Given the description of an element on the screen output the (x, y) to click on. 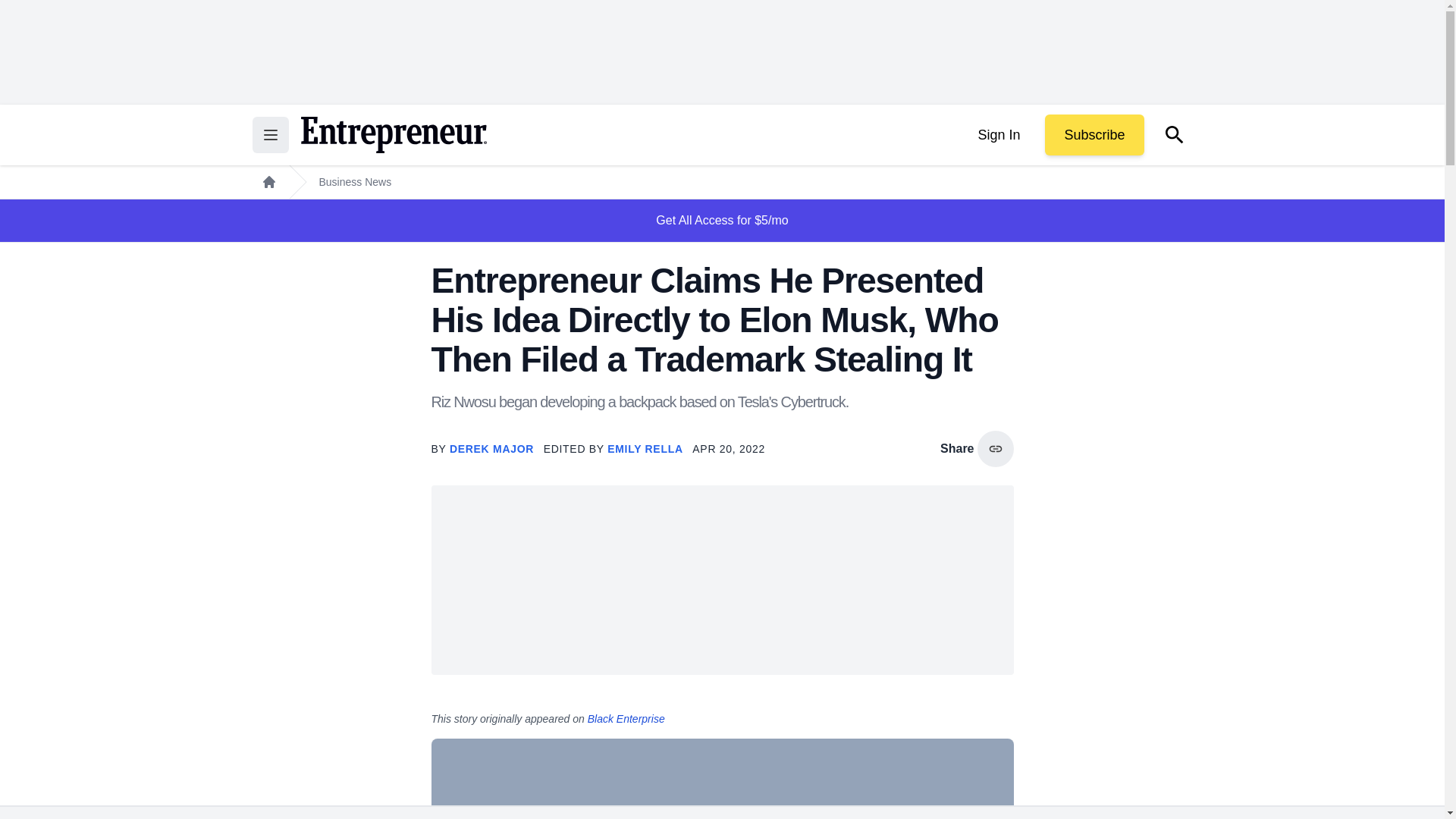
Return to the home page (392, 135)
copy (994, 448)
Sign In (998, 134)
Subscribe (1093, 134)
